Given the description of an element on the screen output the (x, y) to click on. 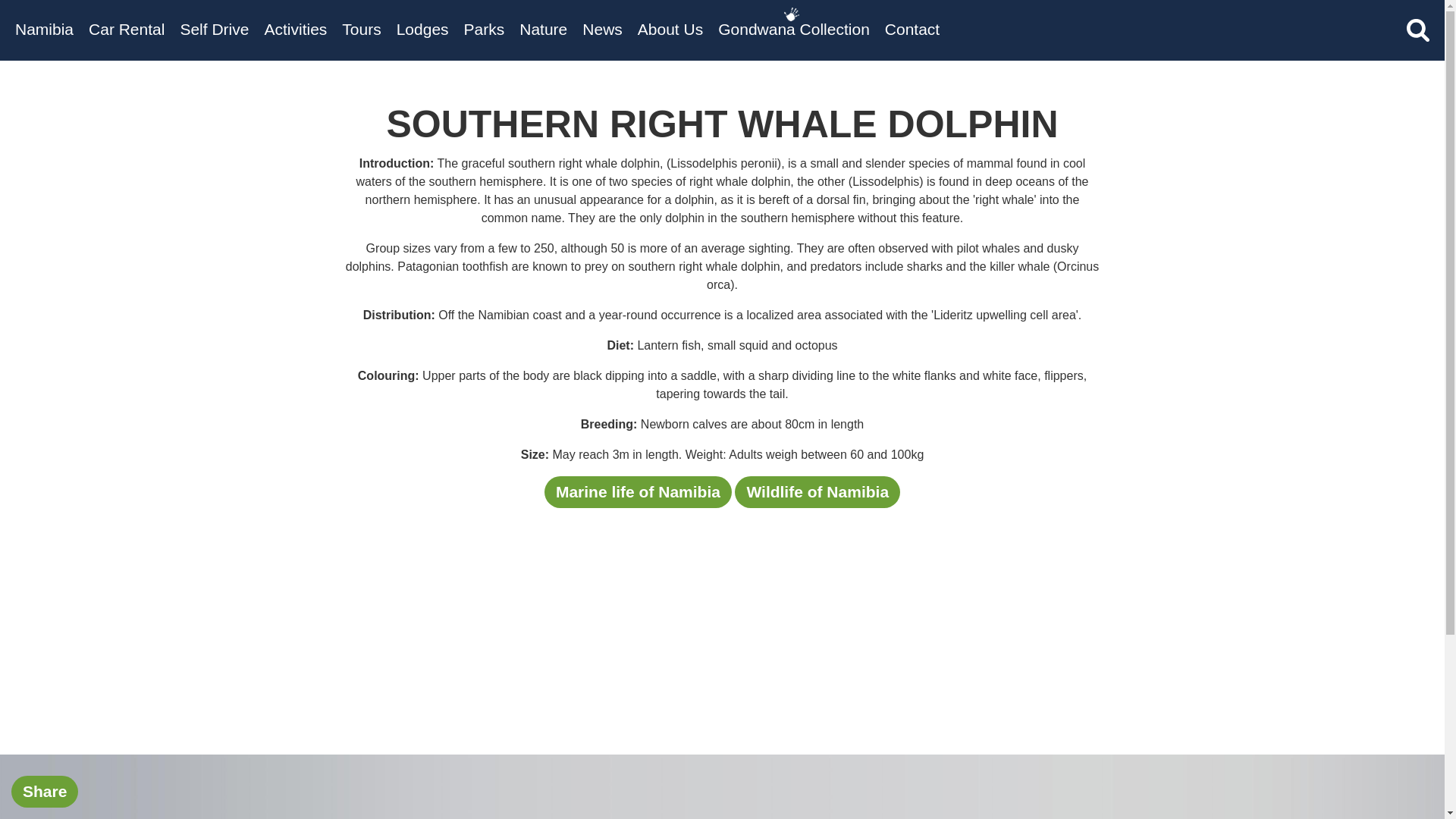
Activities (294, 29)
About Us (670, 29)
Lodges (422, 29)
Car Rental (126, 29)
Tours (361, 29)
Namibia (44, 29)
Parks (484, 29)
Self Drive (213, 29)
Nature (543, 29)
News (602, 29)
